Given the description of an element on the screen output the (x, y) to click on. 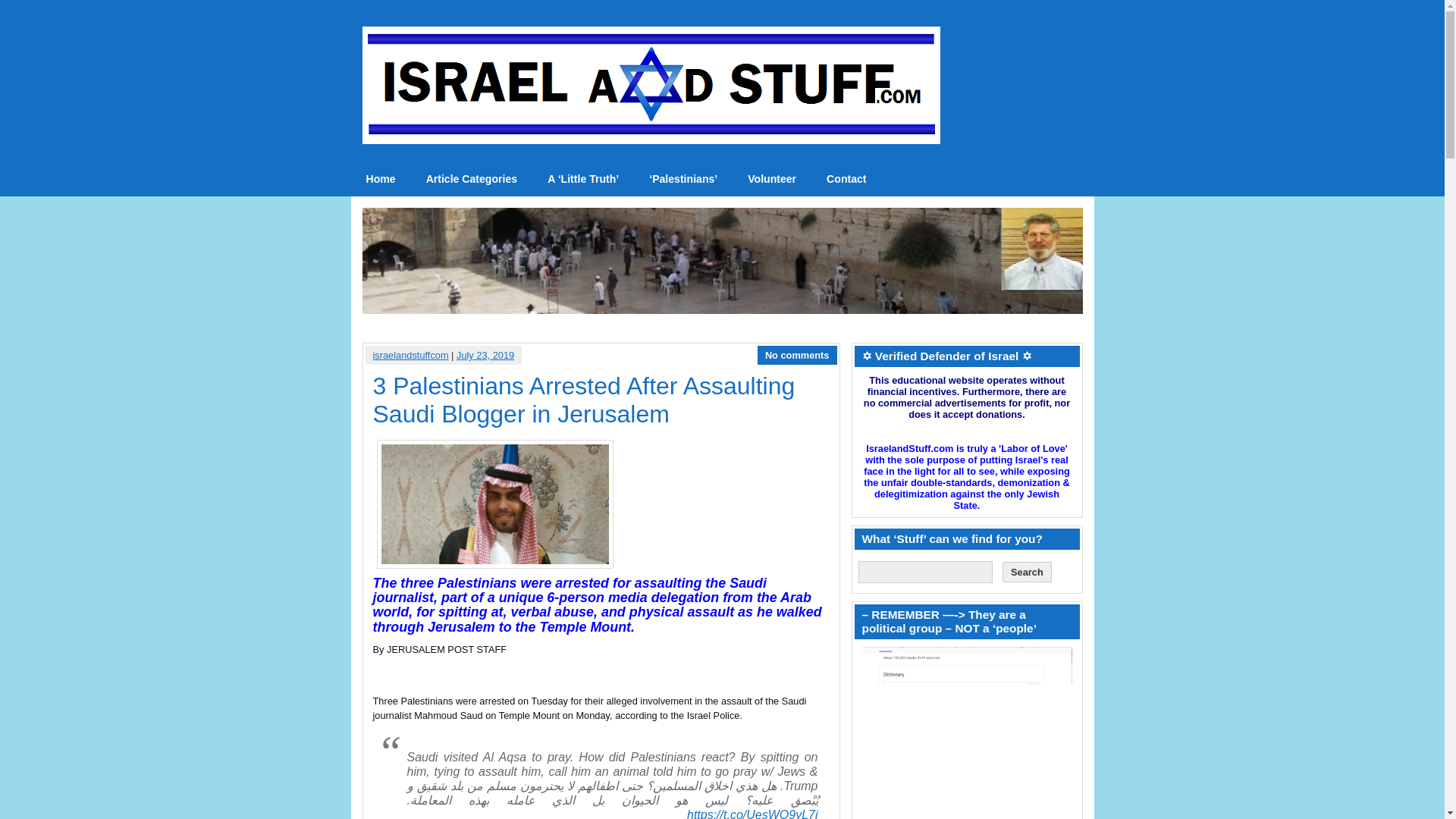
Home (380, 178)
Posts by israelandstuffcom (410, 355)
news (380, 178)
Search (1027, 571)
Volunteer (771, 178)
israelandstuffcom (410, 355)
July 23, 2019 (485, 355)
Article Categories (471, 178)
No comments (797, 355)
Contact (845, 178)
